Given the description of an element on the screen output the (x, y) to click on. 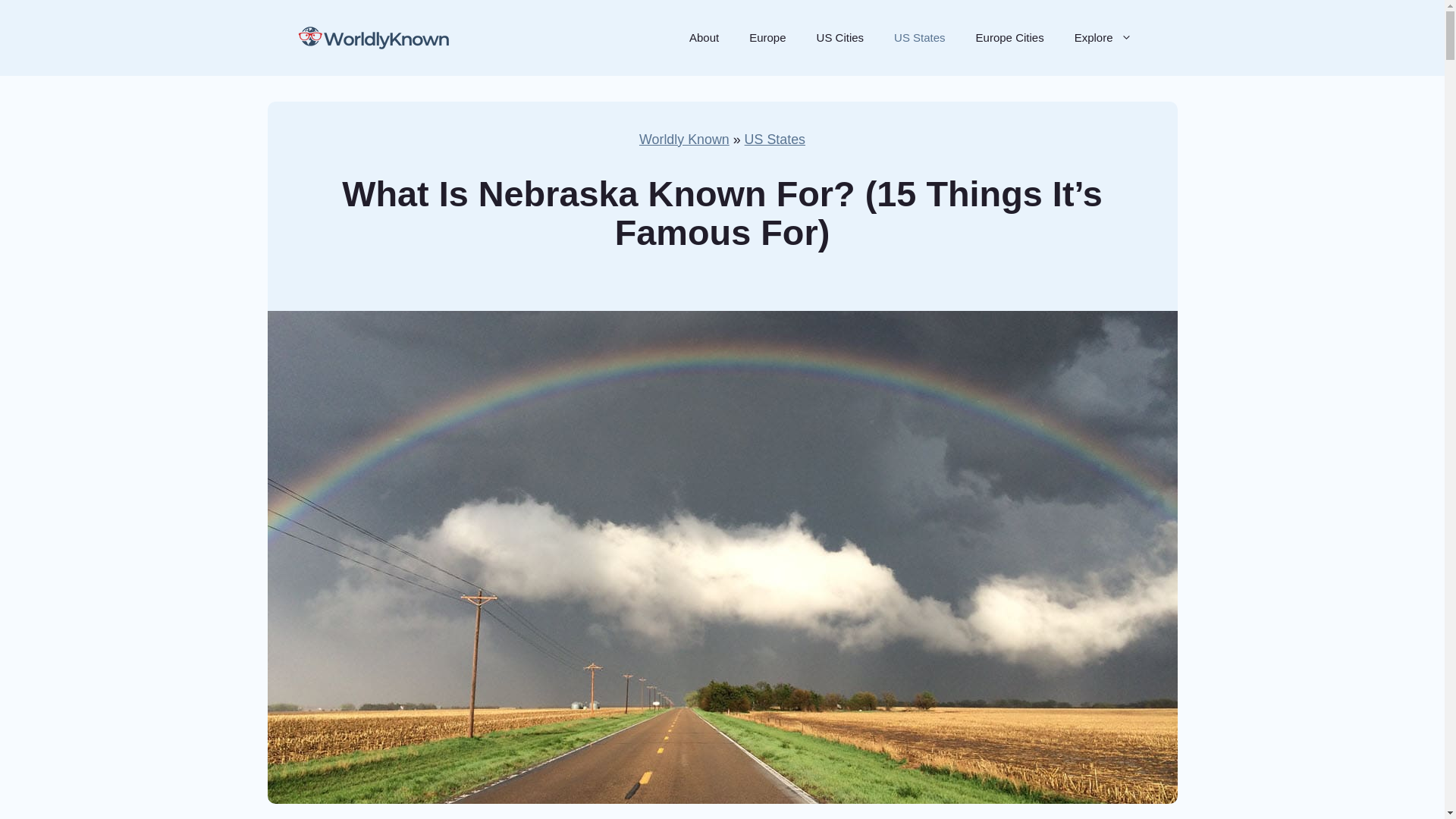
About (703, 37)
Europe (766, 37)
Explore (1103, 37)
US Cities (840, 37)
Worldly Known (684, 139)
US States (919, 37)
Europe Cities (1009, 37)
US States (774, 139)
